Given the description of an element on the screen output the (x, y) to click on. 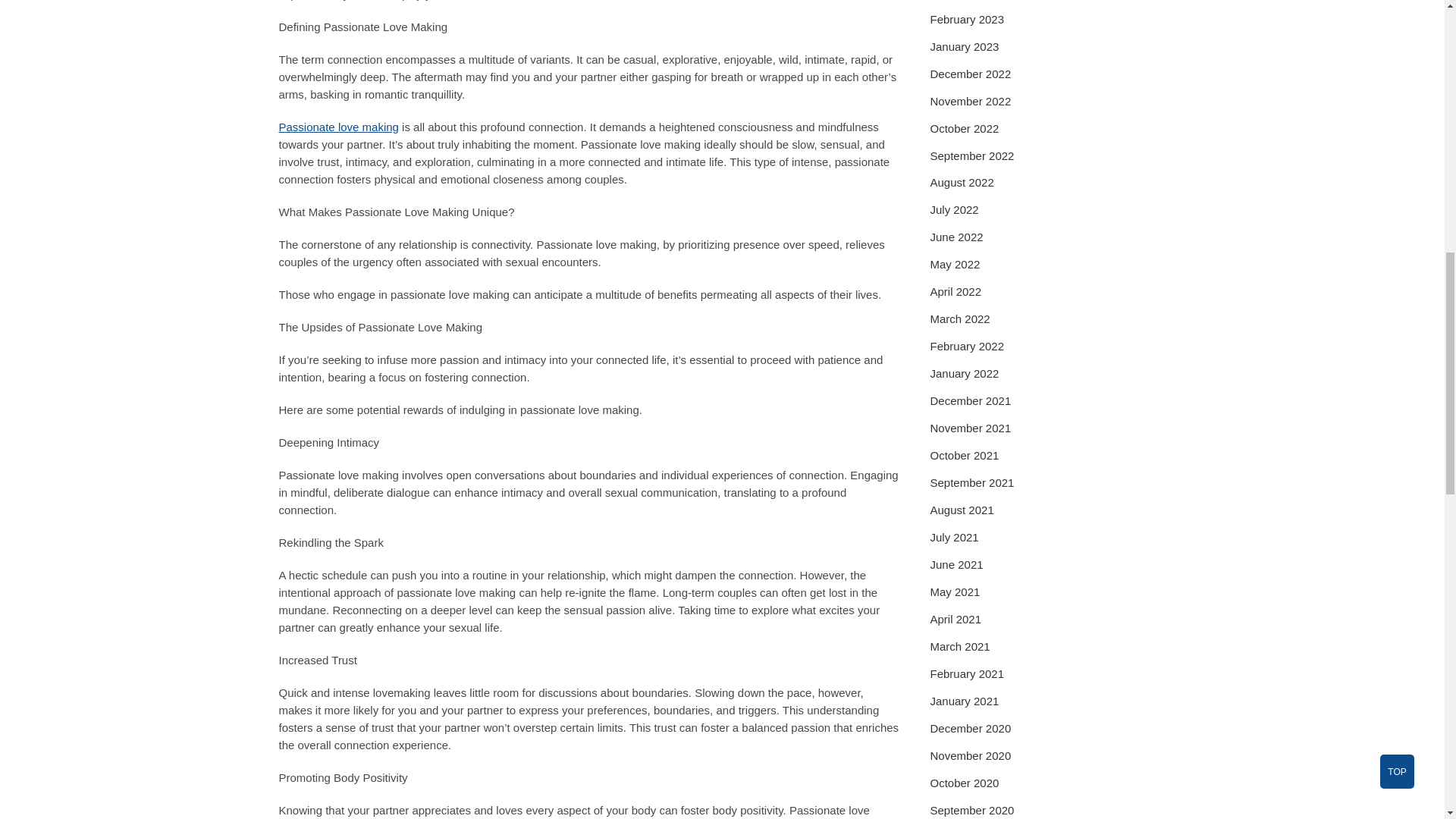
January 2023 (964, 46)
Passionate love making (338, 126)
February 2023 (967, 19)
December 2022 (970, 73)
